Given the description of an element on the screen output the (x, y) to click on. 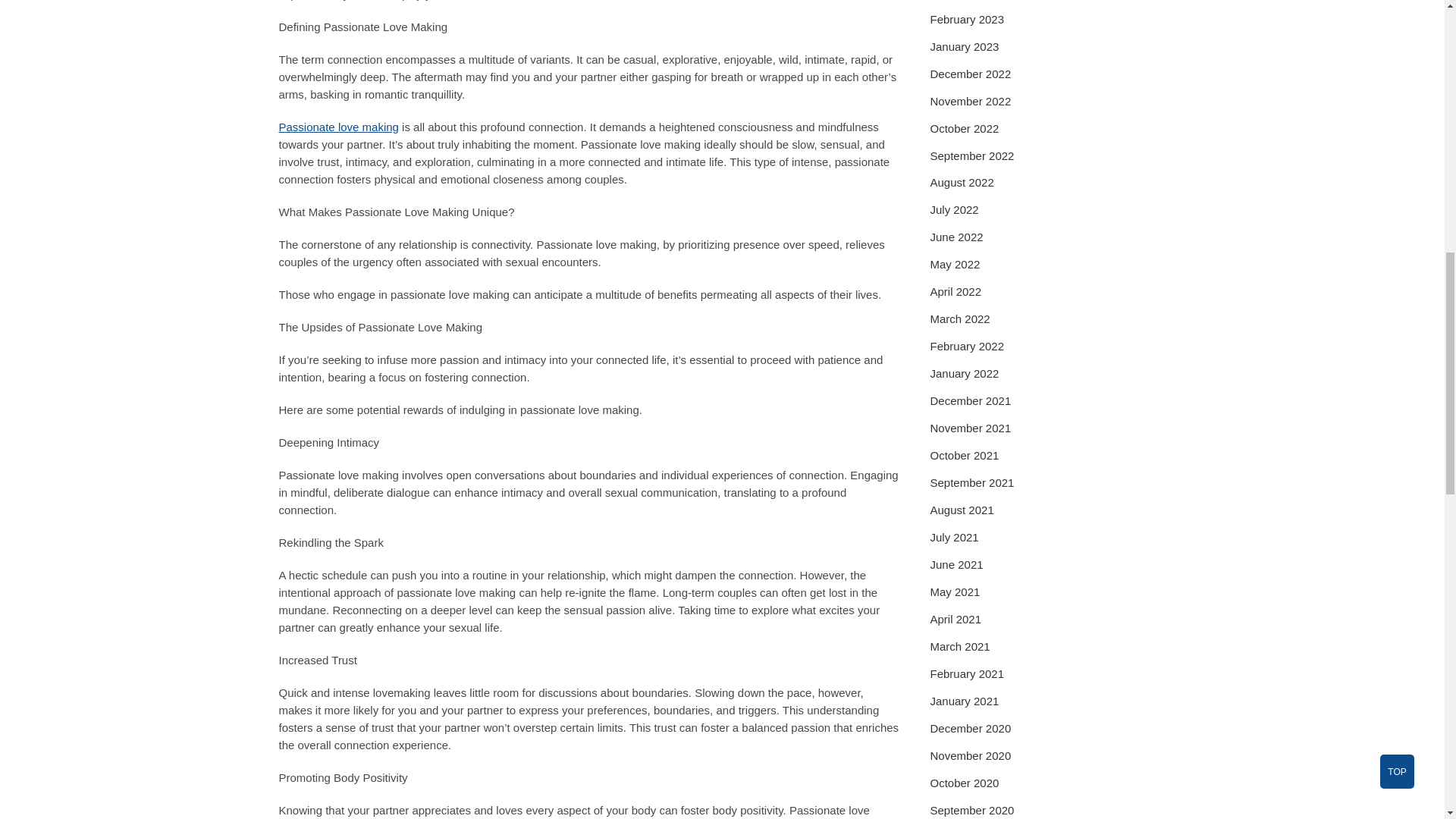
January 2023 (964, 46)
Passionate love making (338, 126)
February 2023 (967, 19)
December 2022 (970, 73)
